Given the description of an element on the screen output the (x, y) to click on. 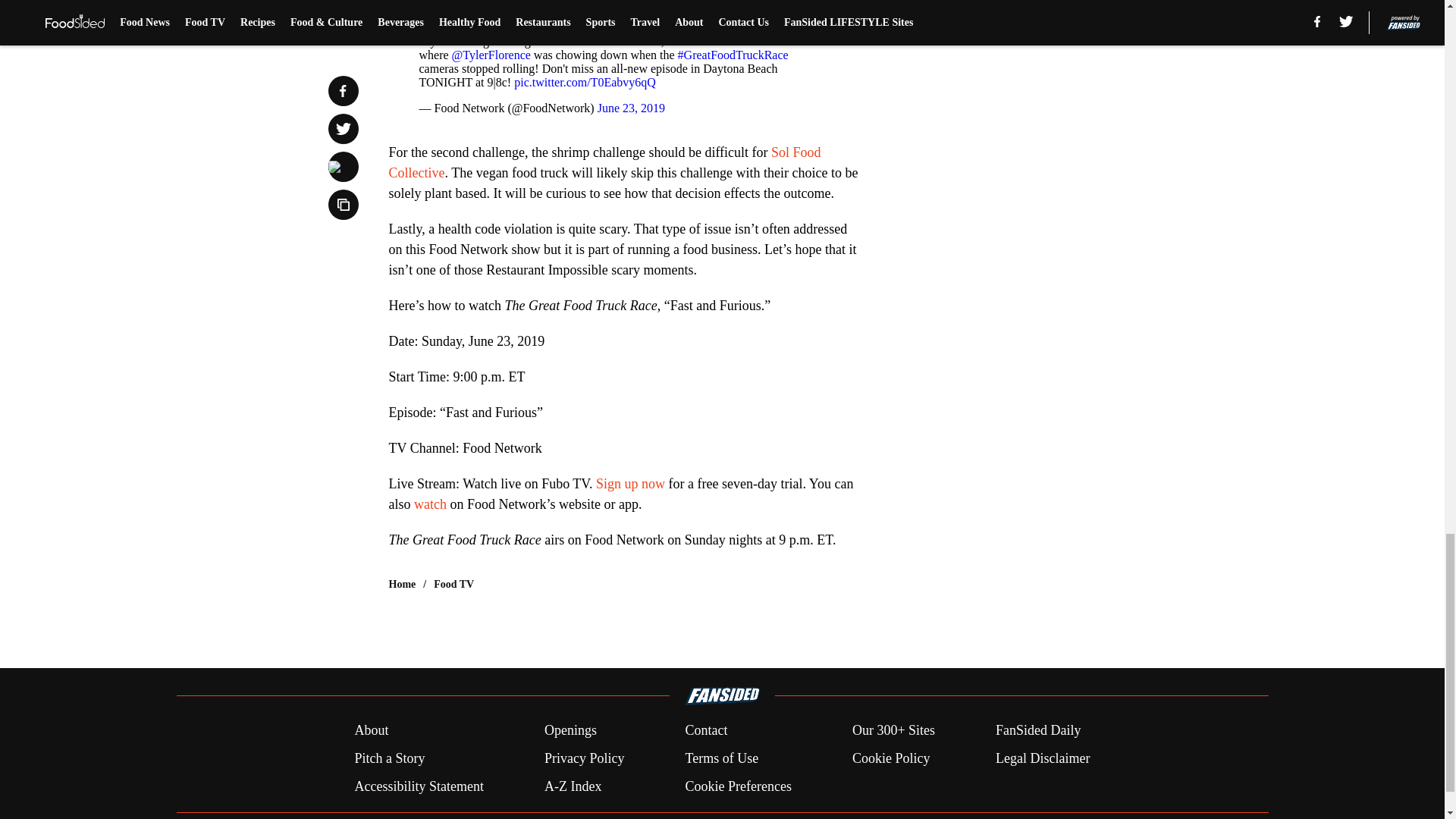
Food TV (453, 584)
watch (431, 503)
Contact (705, 730)
Home (401, 584)
Openings (570, 730)
Sol Food Collective (604, 162)
Sign up now (630, 483)
FanSided Daily (1038, 730)
About (370, 730)
June 23, 2019 (630, 107)
